Given the description of an element on the screen output the (x, y) to click on. 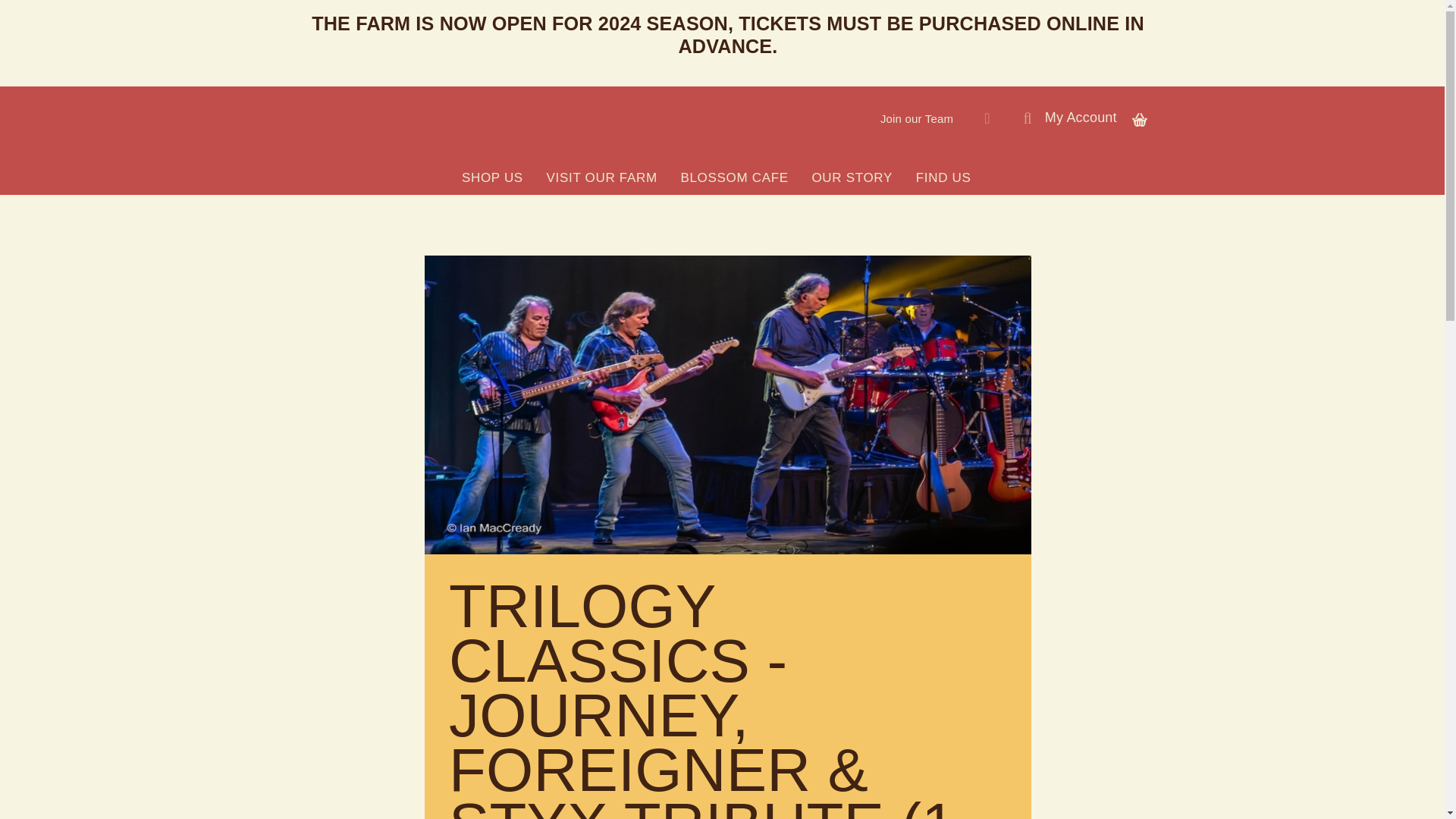
Shopping Cart (1139, 117)
Join our Team (916, 118)
OUR STORY (852, 177)
SHOP US (491, 177)
My Account (1080, 117)
My Account (1080, 117)
BLOSSOM CAFE (734, 177)
VISIT OUR FARM (601, 177)
FIND US (942, 177)
